Given the description of an element on the screen output the (x, y) to click on. 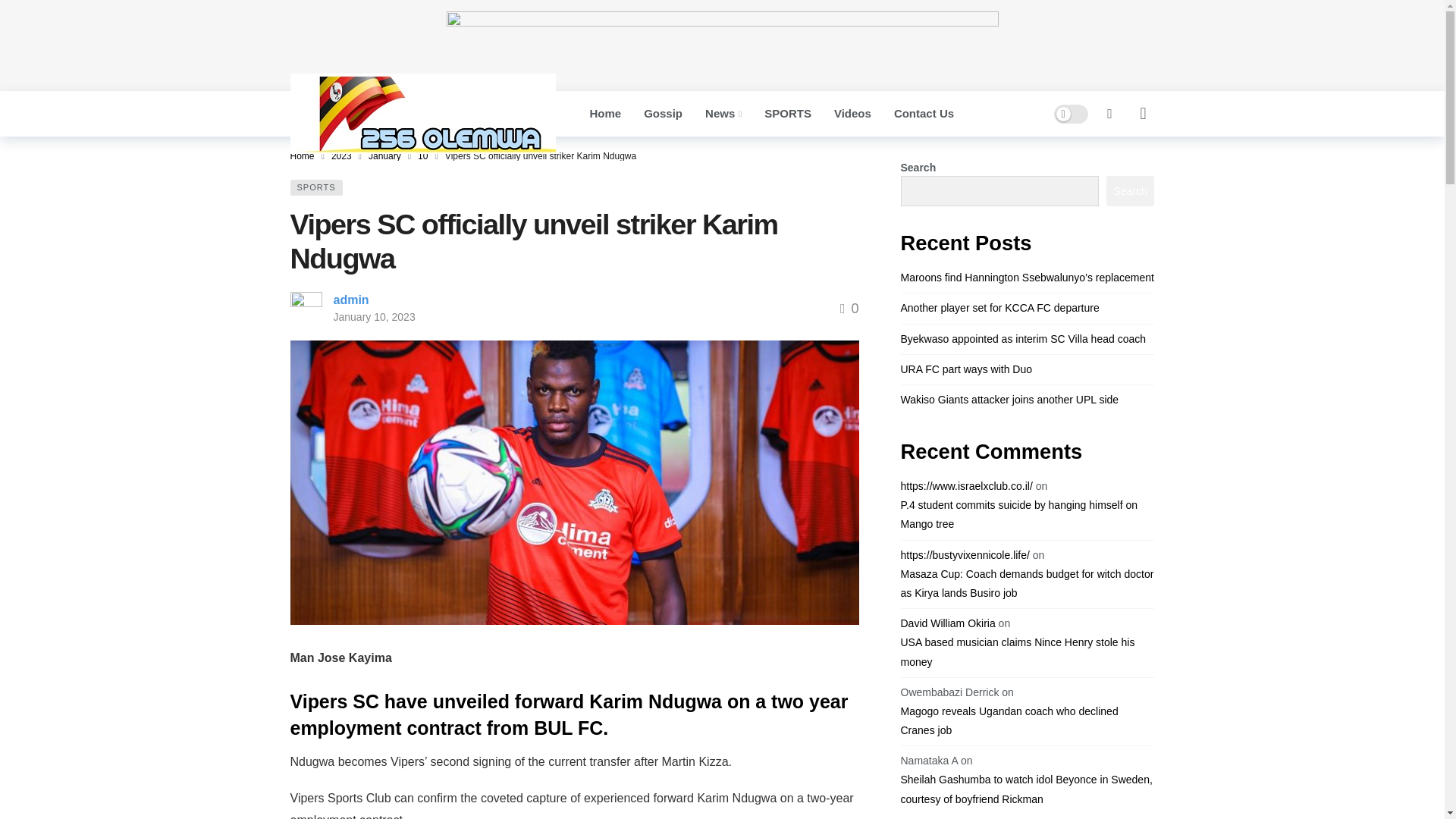
10 (422, 155)
Gossip (662, 113)
Home (301, 155)
0 (849, 308)
Contact Us (923, 113)
SPORTS (787, 113)
2023 (341, 155)
Videos (852, 113)
SPORTS (315, 187)
Home (604, 113)
January (384, 155)
admin (351, 299)
January 10, 2023 (373, 316)
News (723, 113)
